Given the description of an element on the screen output the (x, y) to click on. 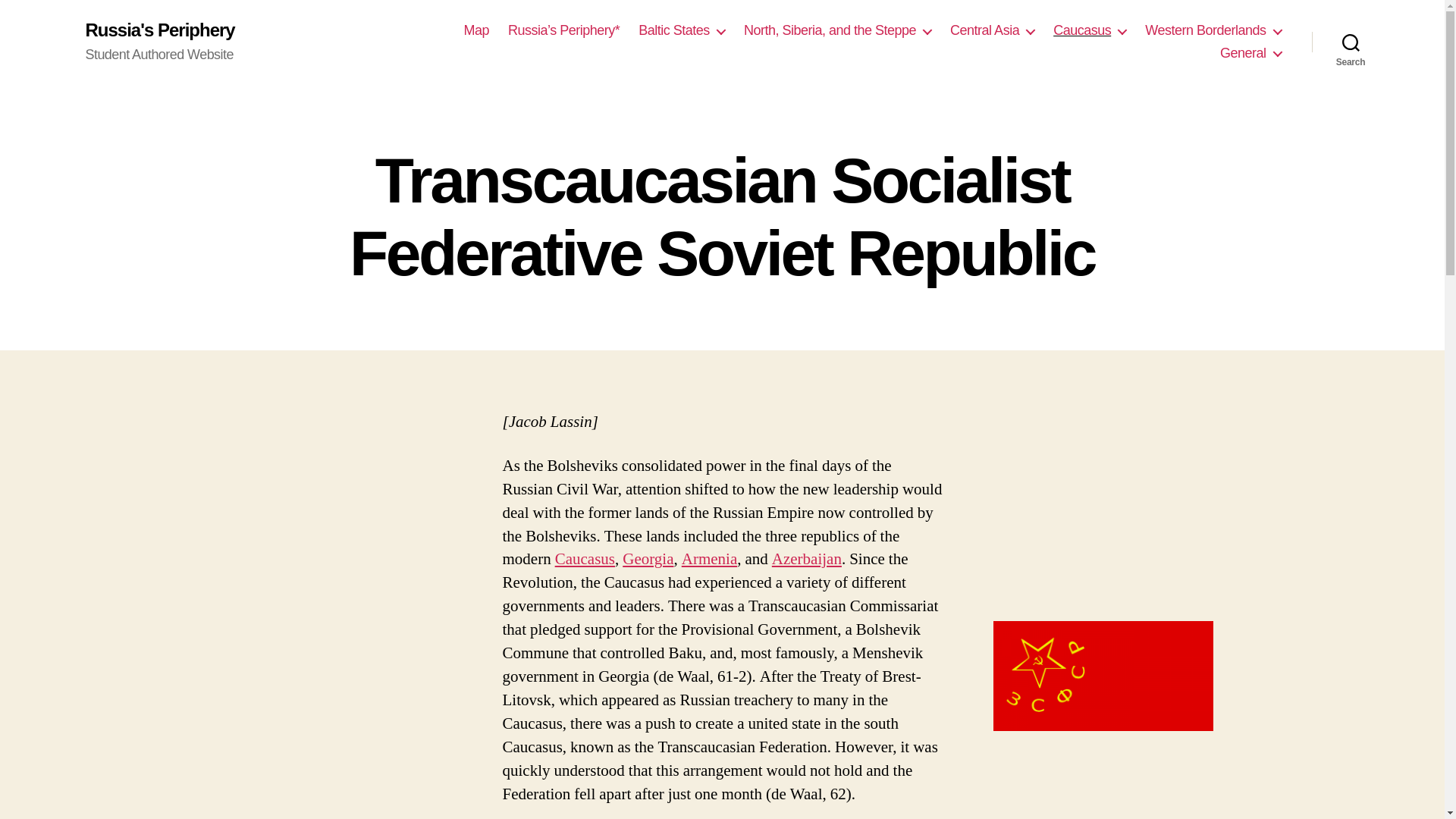
Flag of the Transcaucasian SFSR (1102, 675)
Baltic States (682, 30)
Map (476, 30)
Russia's Periphery (159, 30)
